Given the description of an element on the screen output the (x, y) to click on. 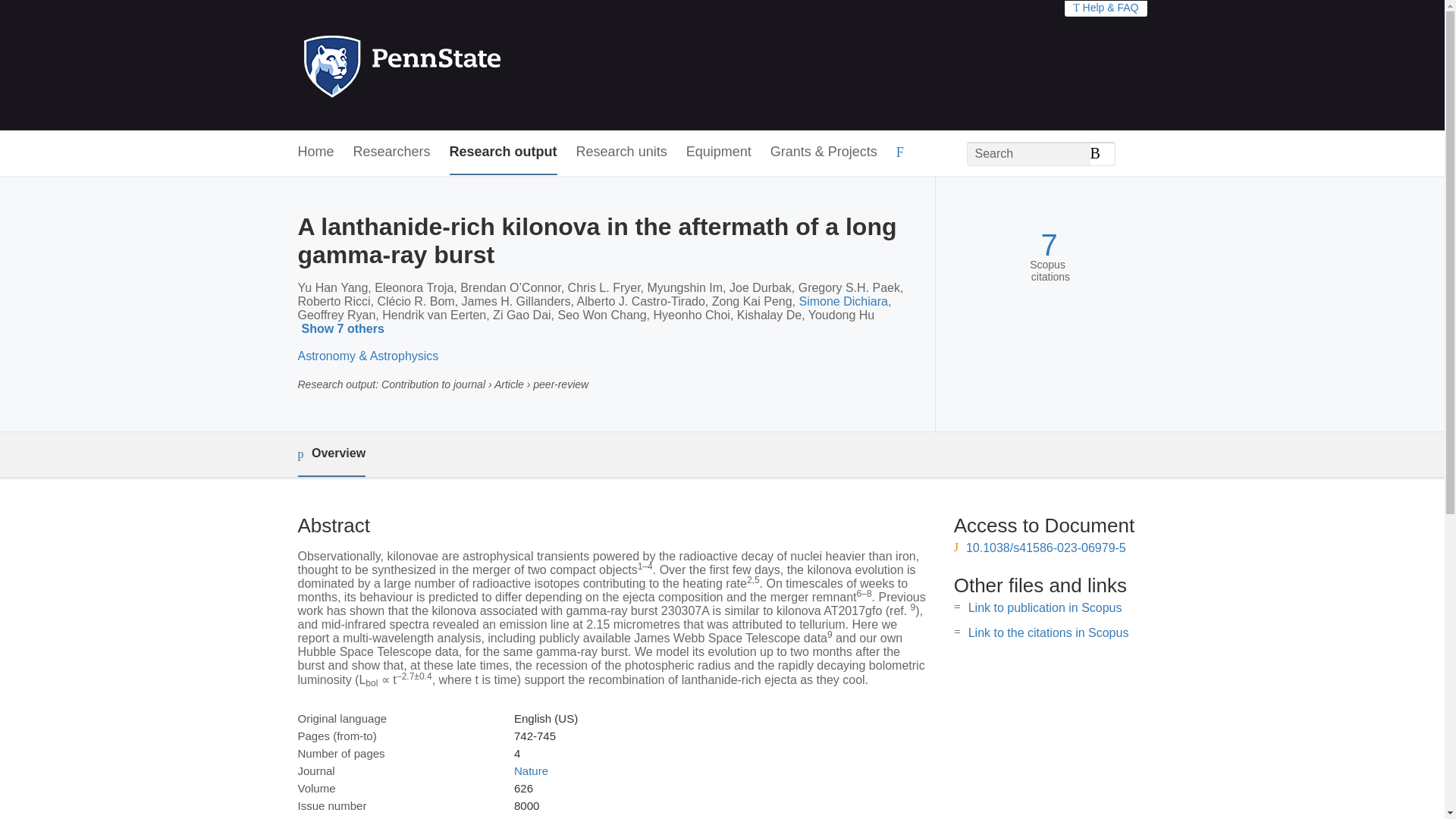
Researchers (391, 152)
Research output (503, 152)
Simone Dichiara (843, 300)
Show 7 others (345, 329)
Link to the citations in Scopus (1048, 632)
Nature (530, 770)
Penn State Home (467, 65)
Research units (621, 152)
Equipment (718, 152)
7 (1049, 244)
Overview (331, 454)
Home (315, 152)
Link to publication in Scopus (1045, 607)
